Given the description of an element on the screen output the (x, y) to click on. 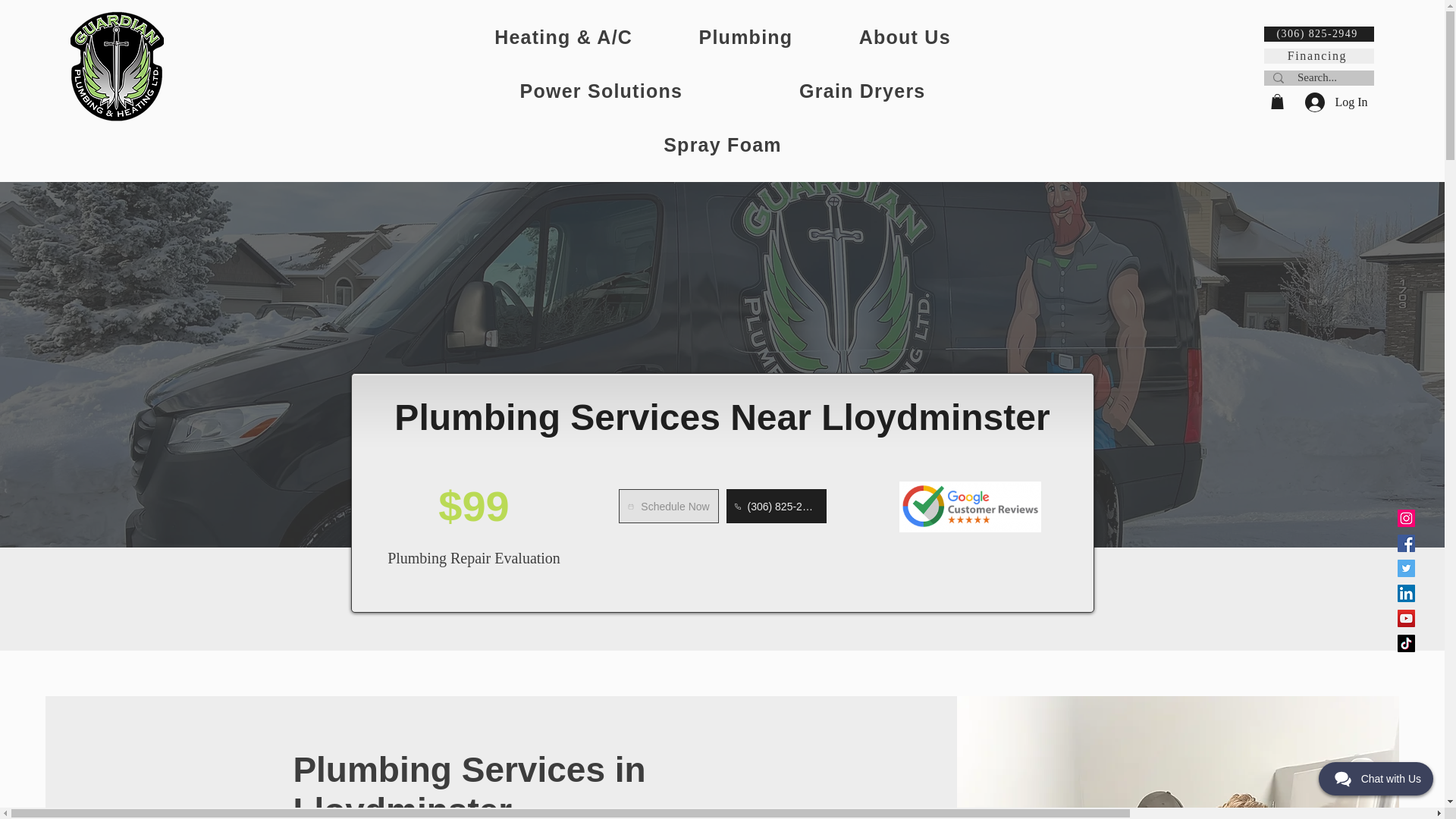
About Us (904, 37)
Spray Foam (722, 144)
Power Solutions (601, 90)
Plumbing (745, 37)
Financing (1318, 55)
Grain Dryers (861, 90)
Log In (1329, 101)
